Given the description of an element on the screen output the (x, y) to click on. 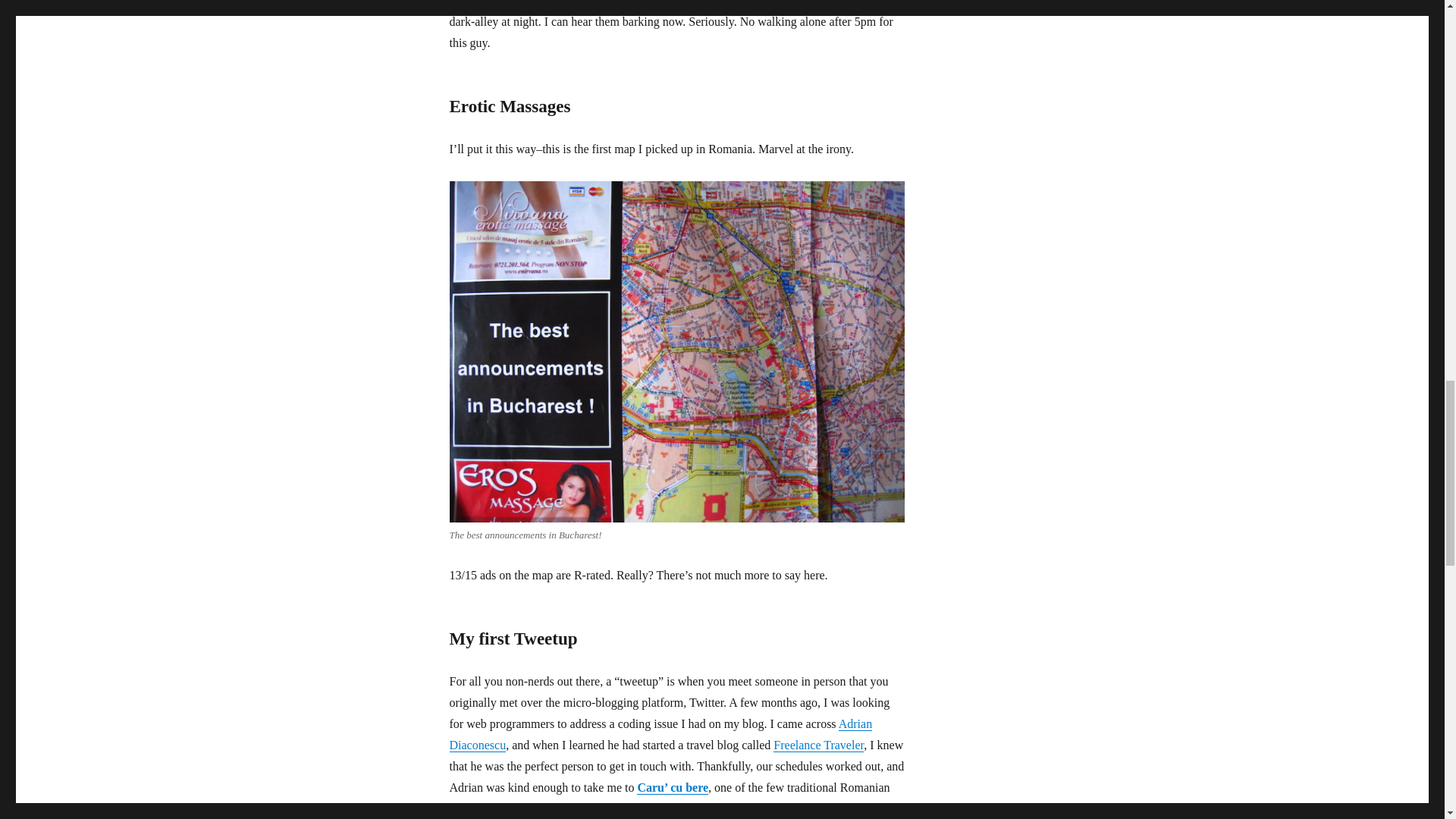
Adrian Diaconescu (660, 734)
Freelance Traveler (818, 744)
